Given the description of an element on the screen output the (x, y) to click on. 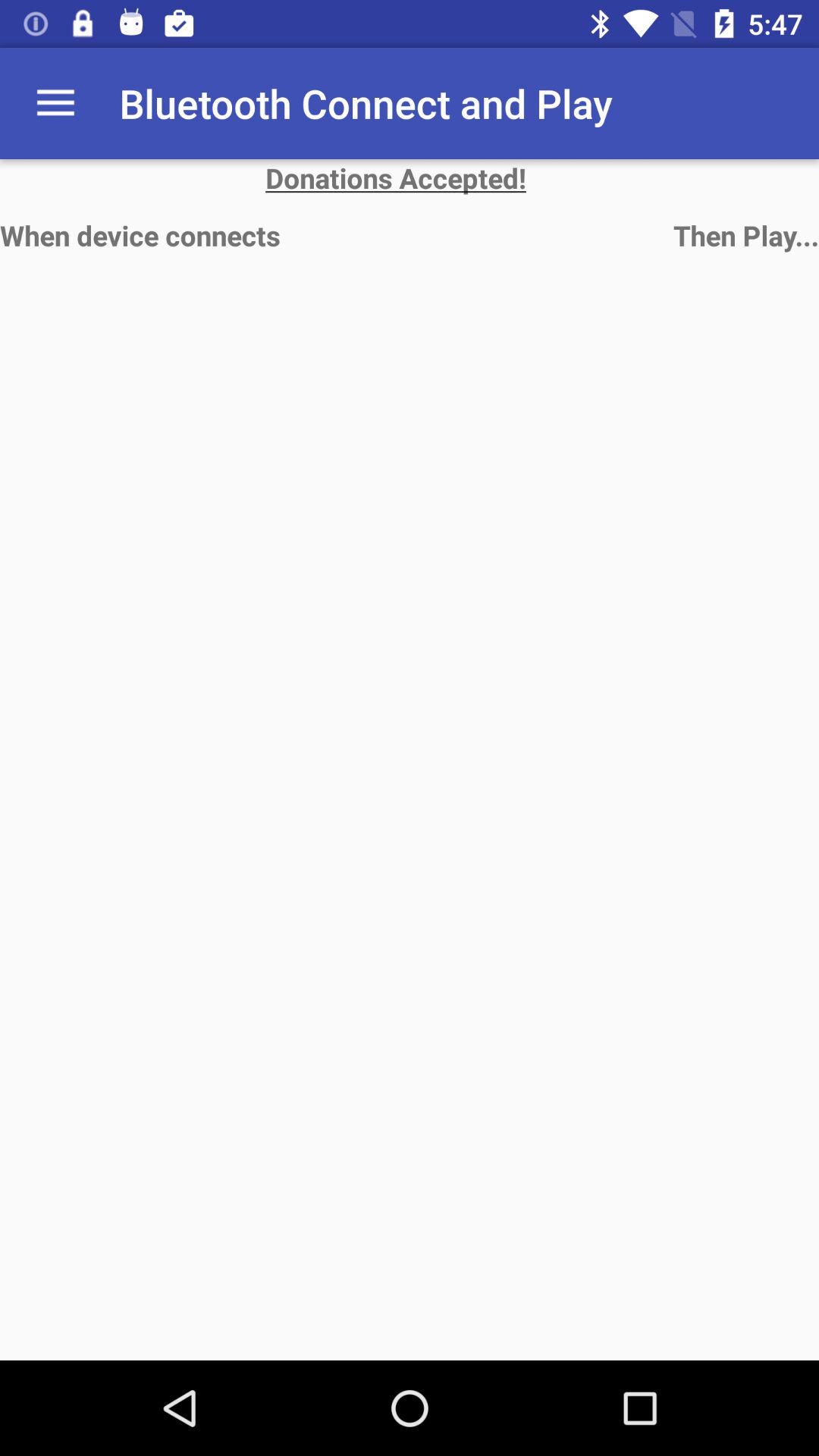
choose app below the bluetooth connect and icon (409, 177)
